Given the description of an element on the screen output the (x, y) to click on. 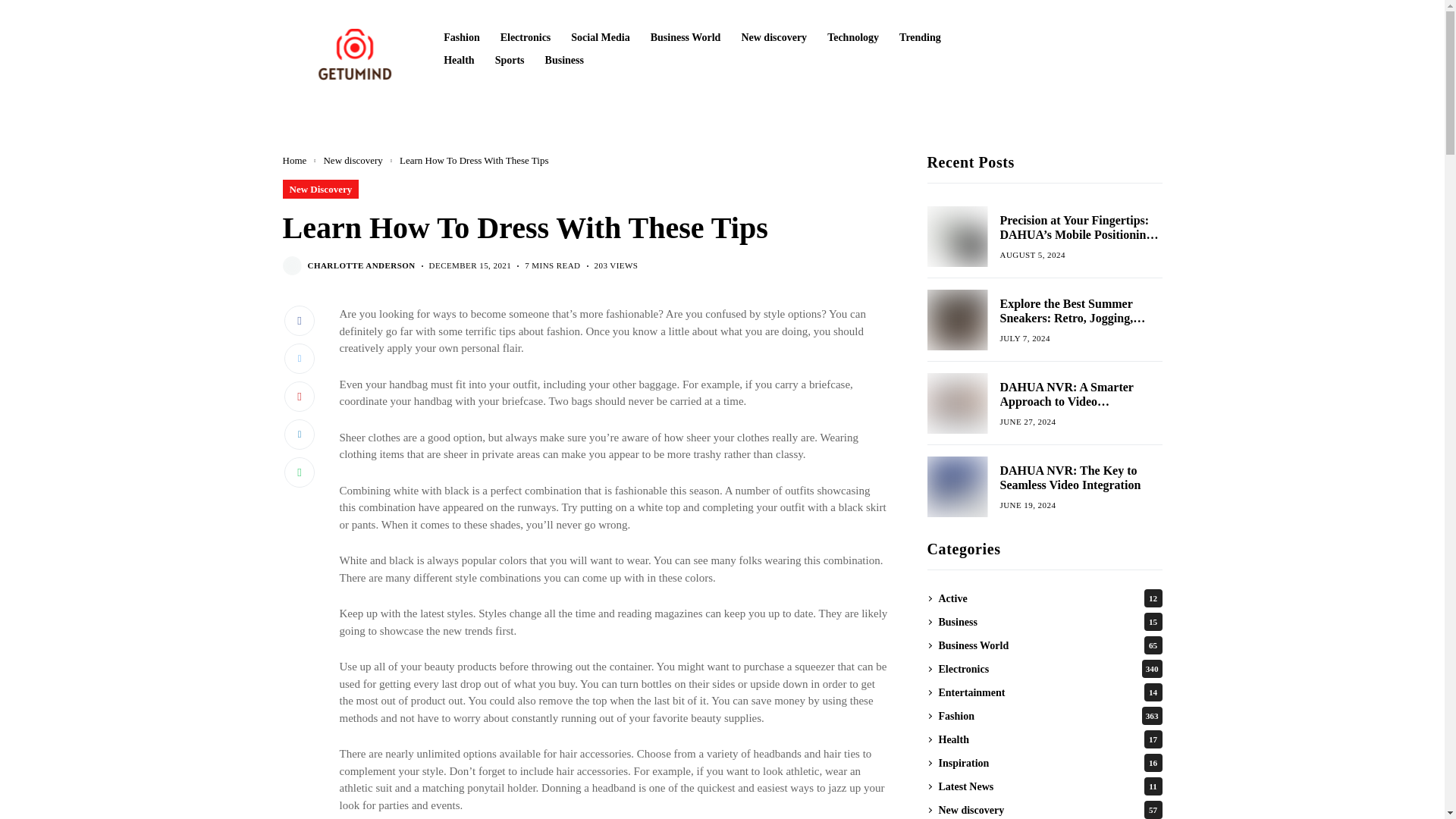
Fashion (461, 37)
DAHUA NVR: The Key to Seamless Video Integration (956, 486)
Posts by Charlotte Anderson (360, 266)
Business (563, 60)
Health (459, 60)
Business World (685, 37)
Trending (919, 37)
Technology (853, 37)
New discovery (352, 160)
New Discovery (320, 189)
